Given the description of an element on the screen output the (x, y) to click on. 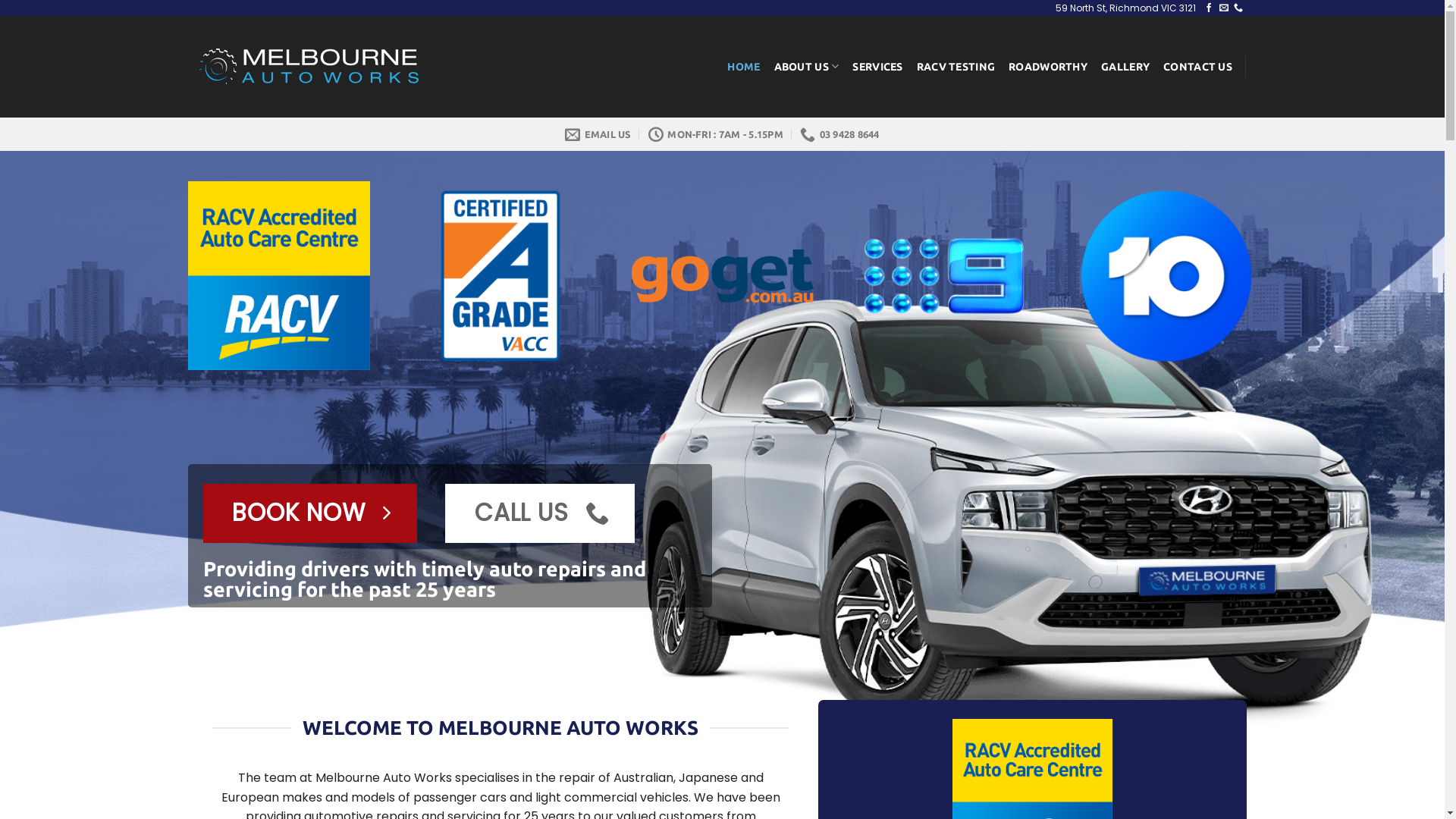
ROADWORTHY Element type: text (1047, 66)
MON-FRI : 7AM - 5.15PM Element type: text (715, 133)
GALLERY Element type: text (1125, 66)
Follow on Facebook Element type: hover (1208, 8)
Send us an email Element type: hover (1223, 8)
EMAIL US Element type: text (597, 133)
CALL US Element type: text (539, 512)
ABOUT US Element type: text (806, 66)
RACV TESTING Element type: text (955, 66)
SERVICES Element type: text (877, 66)
HOME Element type: text (743, 66)
03 9428 8644 Element type: text (839, 133)
Melbourne Auto Repairs - Mechanical Repairs | VACC Member Element type: hover (307, 65)
Skip to content Element type: text (0, 0)
CONTACT US Element type: text (1197, 66)
BOOK NOW Element type: text (310, 512)
Call us Element type: hover (1237, 8)
